Given the description of an element on the screen output the (x, y) to click on. 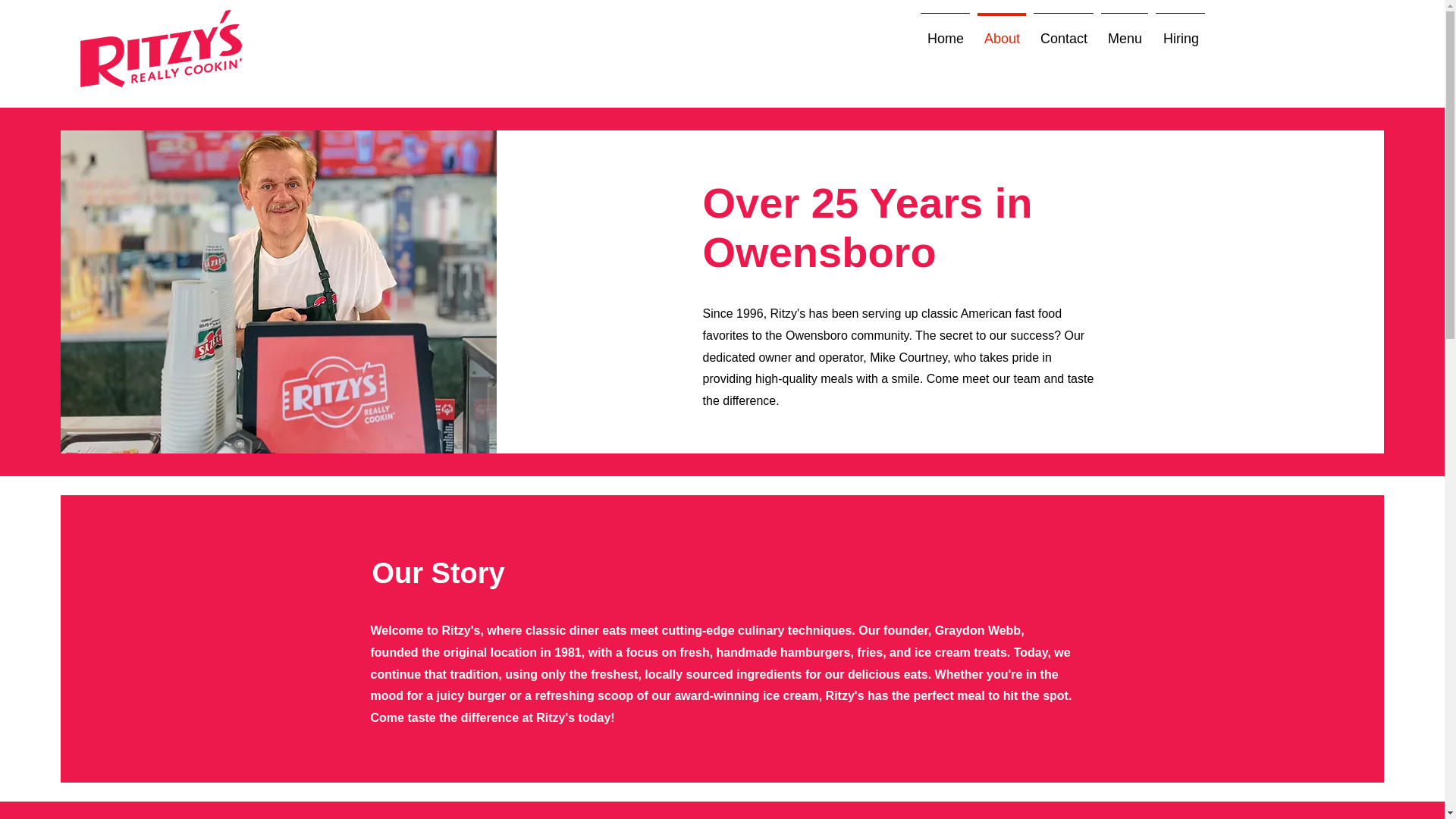
Hiring (1179, 31)
Home (945, 31)
Contact (1063, 31)
About (1001, 31)
Menu (1124, 31)
